Given the description of an element on the screen output the (x, y) to click on. 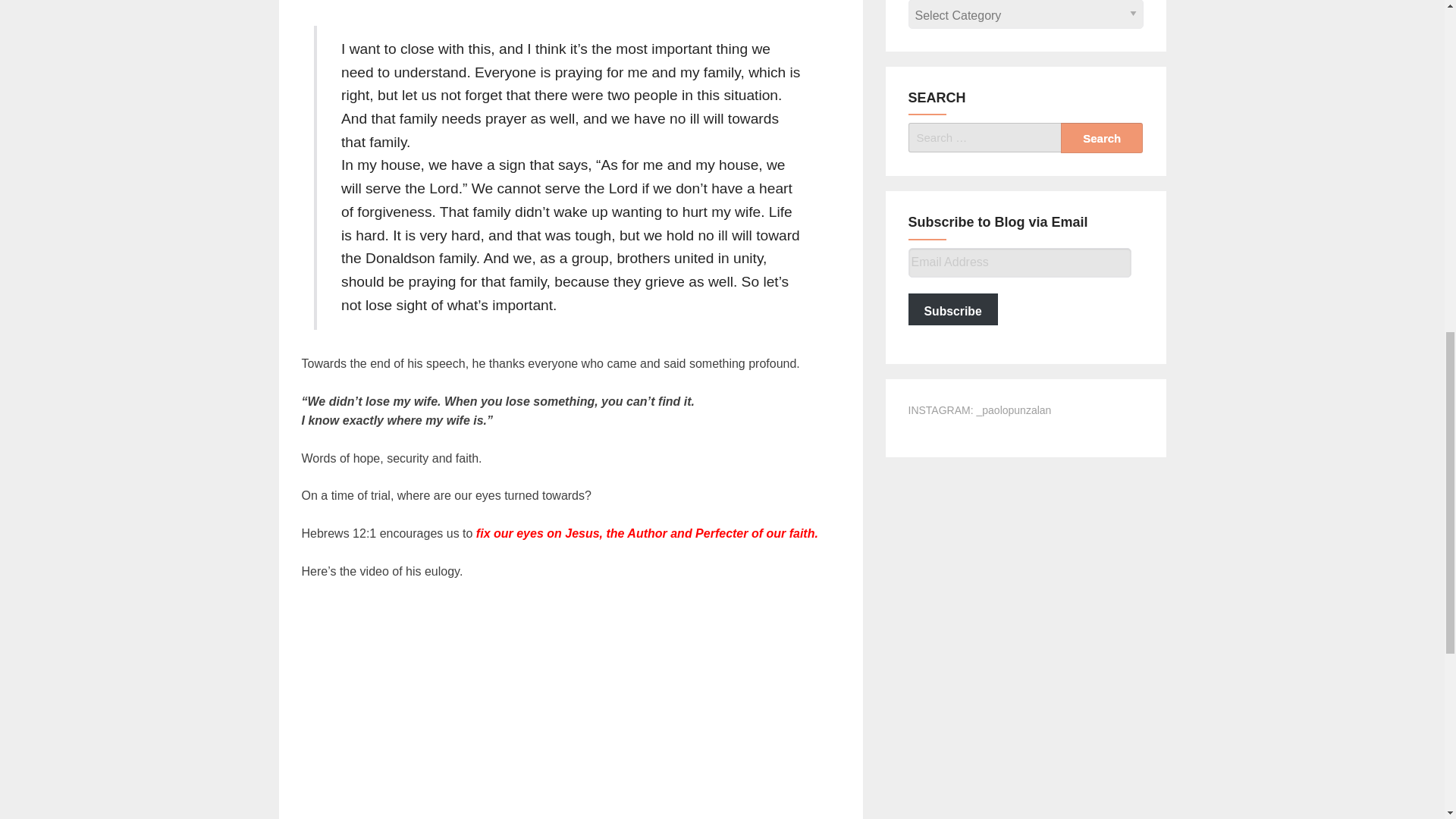
Search (1101, 137)
Search (1101, 137)
Search (1101, 137)
Subscribe (952, 309)
